Given the description of an element on the screen output the (x, y) to click on. 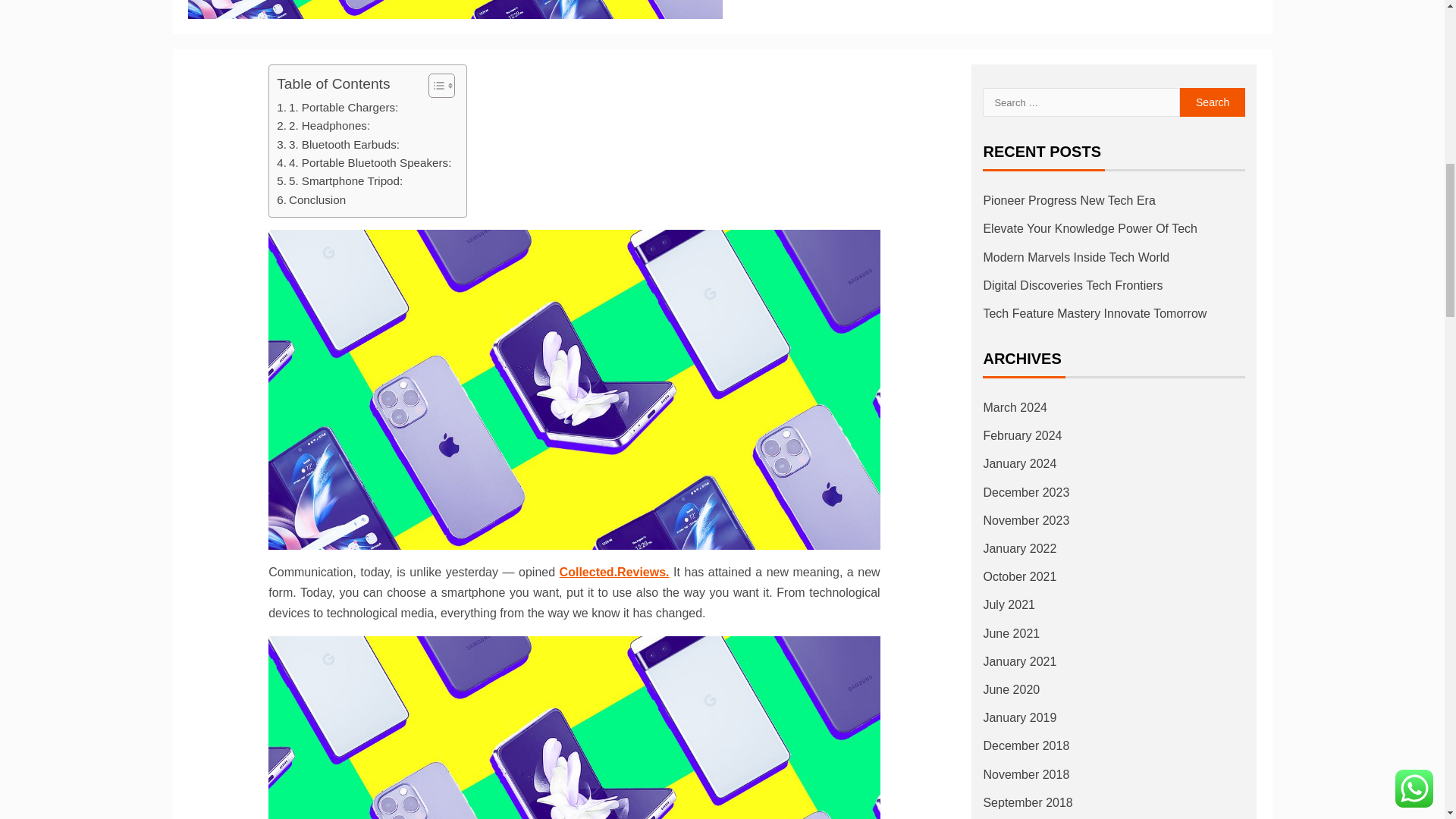
Search (1212, 102)
3. Bluetooth Earbuds: (337, 144)
1. Portable Chargers: (336, 107)
4. Portable Bluetooth Speakers: (363, 162)
2. Headphones: (322, 126)
Conclusion (311, 199)
5. Smartphone Tripod: (339, 180)
5. Smartphone Tripod:  (339, 180)
Search (1212, 102)
1. Portable Chargers:  (336, 107)
4. Portable Bluetooth Speakers:  (363, 162)
3. Bluetooth Earbuds:  (337, 144)
2. Headphones:  (322, 126)
Conclusion (311, 199)
